Given the description of an element on the screen output the (x, y) to click on. 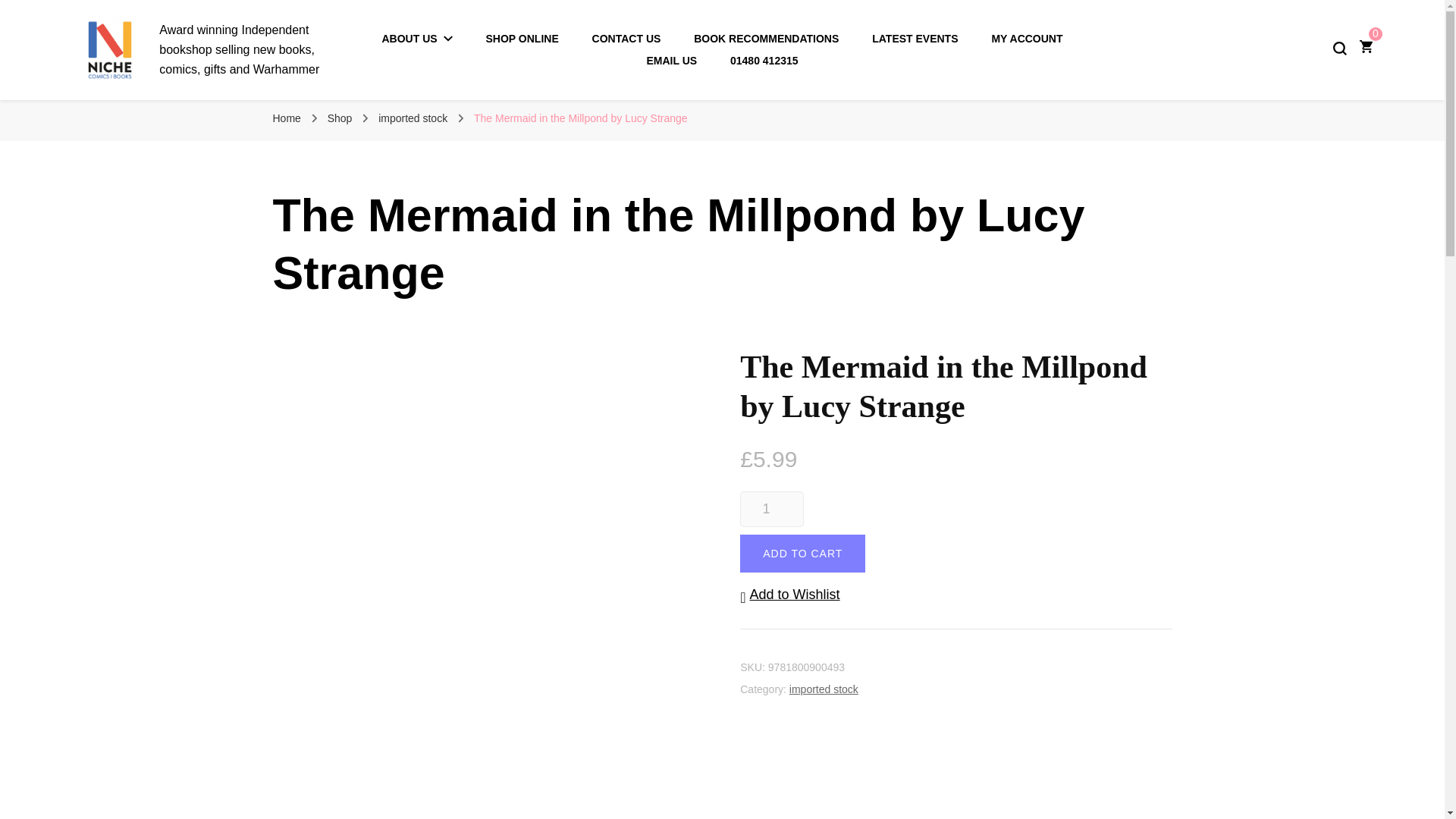
BOOK RECOMMENDATIONS (766, 38)
MY ACCOUNT (1026, 38)
ABOUT US (416, 38)
1 (771, 509)
CONTACT US (626, 38)
Shop (339, 118)
01480 412315 (763, 60)
EMAIL US (671, 60)
LATEST EVENTS (915, 38)
SHOP ONLINE (522, 38)
